Given the description of an element on the screen output the (x, y) to click on. 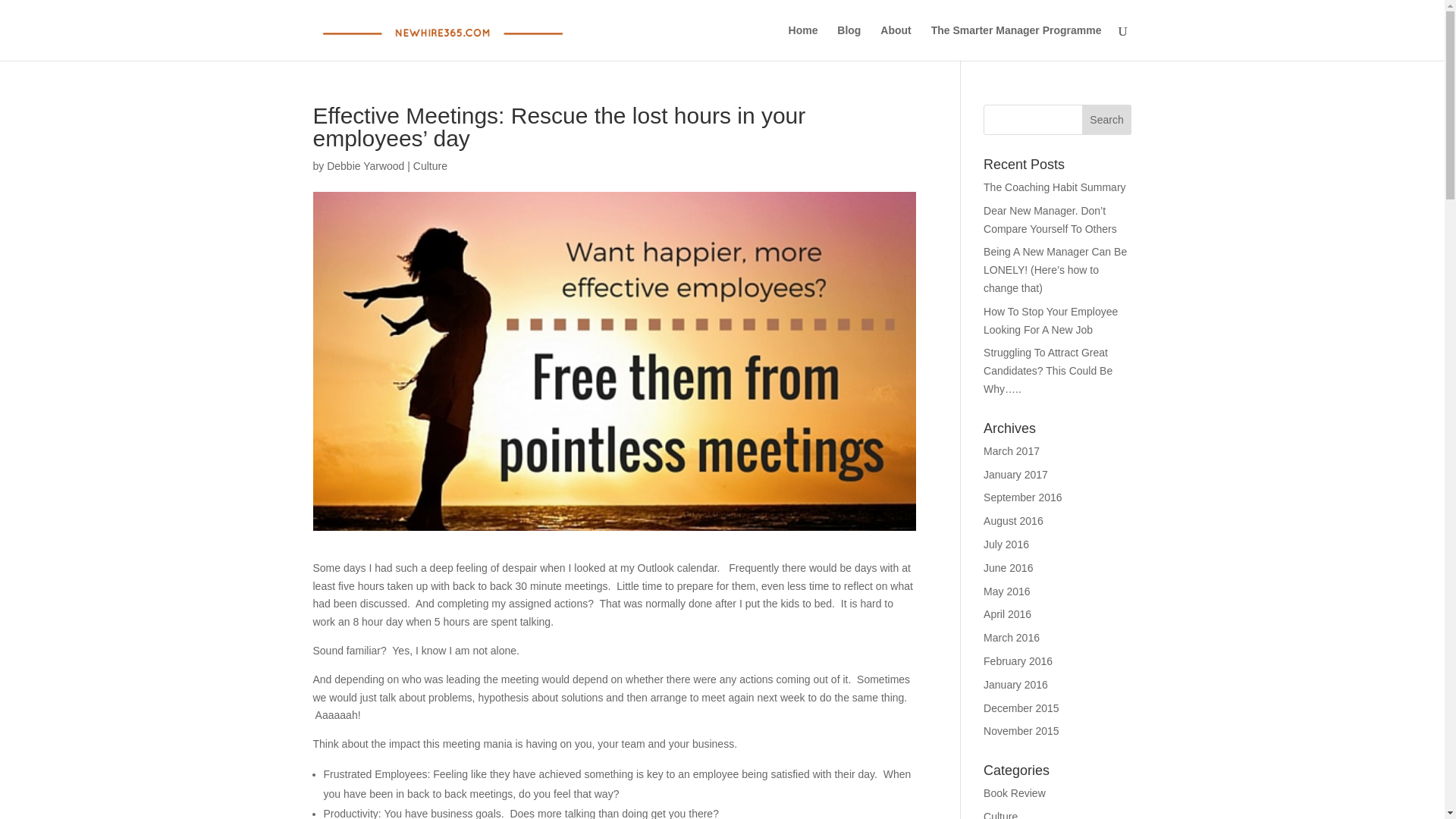
June 2016 (1008, 567)
Debbie Yarwood (365, 165)
Search (1106, 119)
February 2016 (1018, 661)
September 2016 (1023, 497)
March 2016 (1011, 637)
Home (803, 42)
How To Stop Your Employee Looking For A New Job (1051, 320)
Blog (848, 42)
Posts by Debbie Yarwood (365, 165)
About (895, 42)
The Smarter Manager Programme (1016, 42)
Search (1106, 119)
July 2016 (1006, 544)
The Coaching Habit Summary (1054, 186)
